Given the description of an element on the screen output the (x, y) to click on. 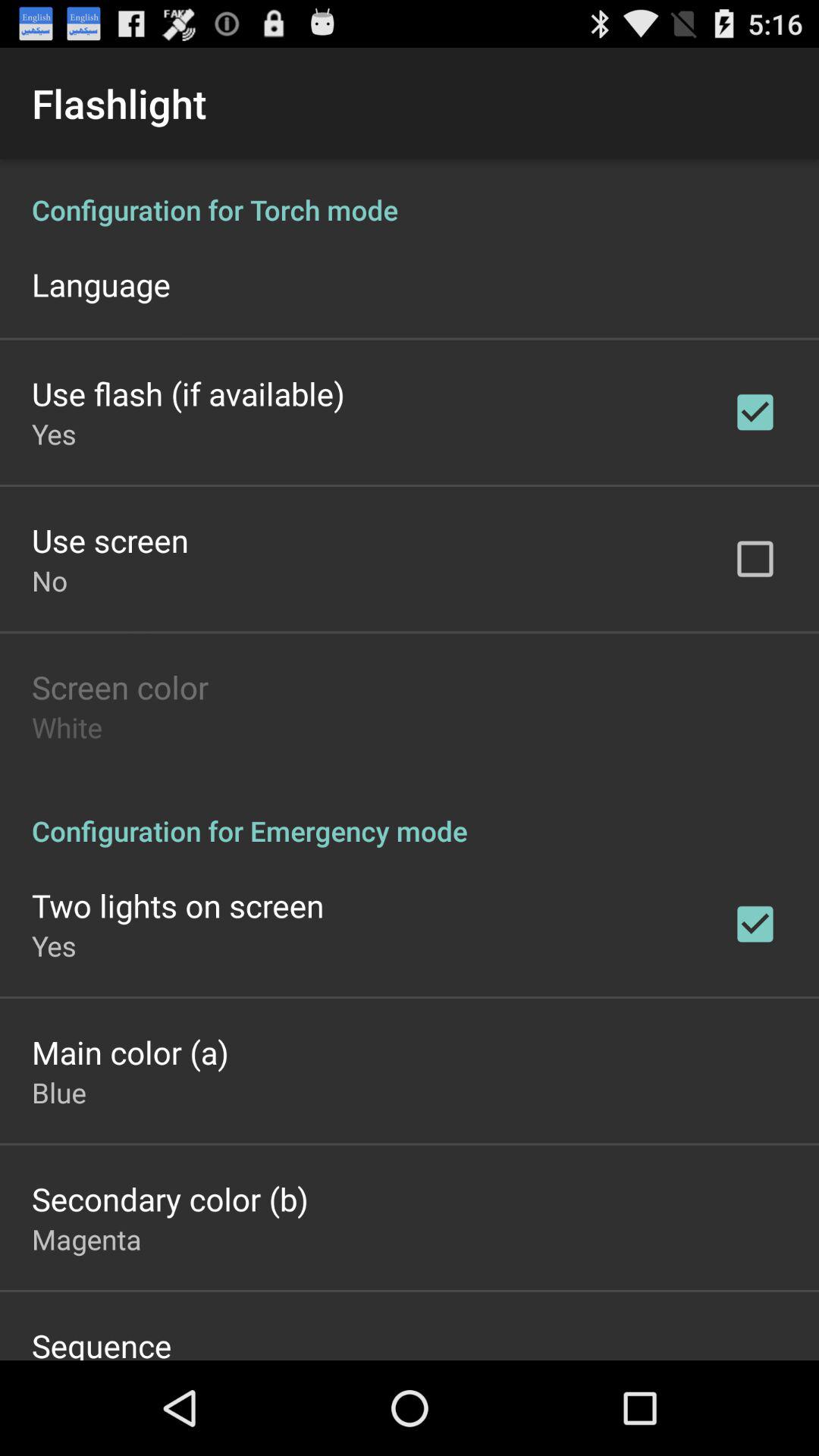
select app above no app (109, 539)
